Given the description of an element on the screen output the (x, y) to click on. 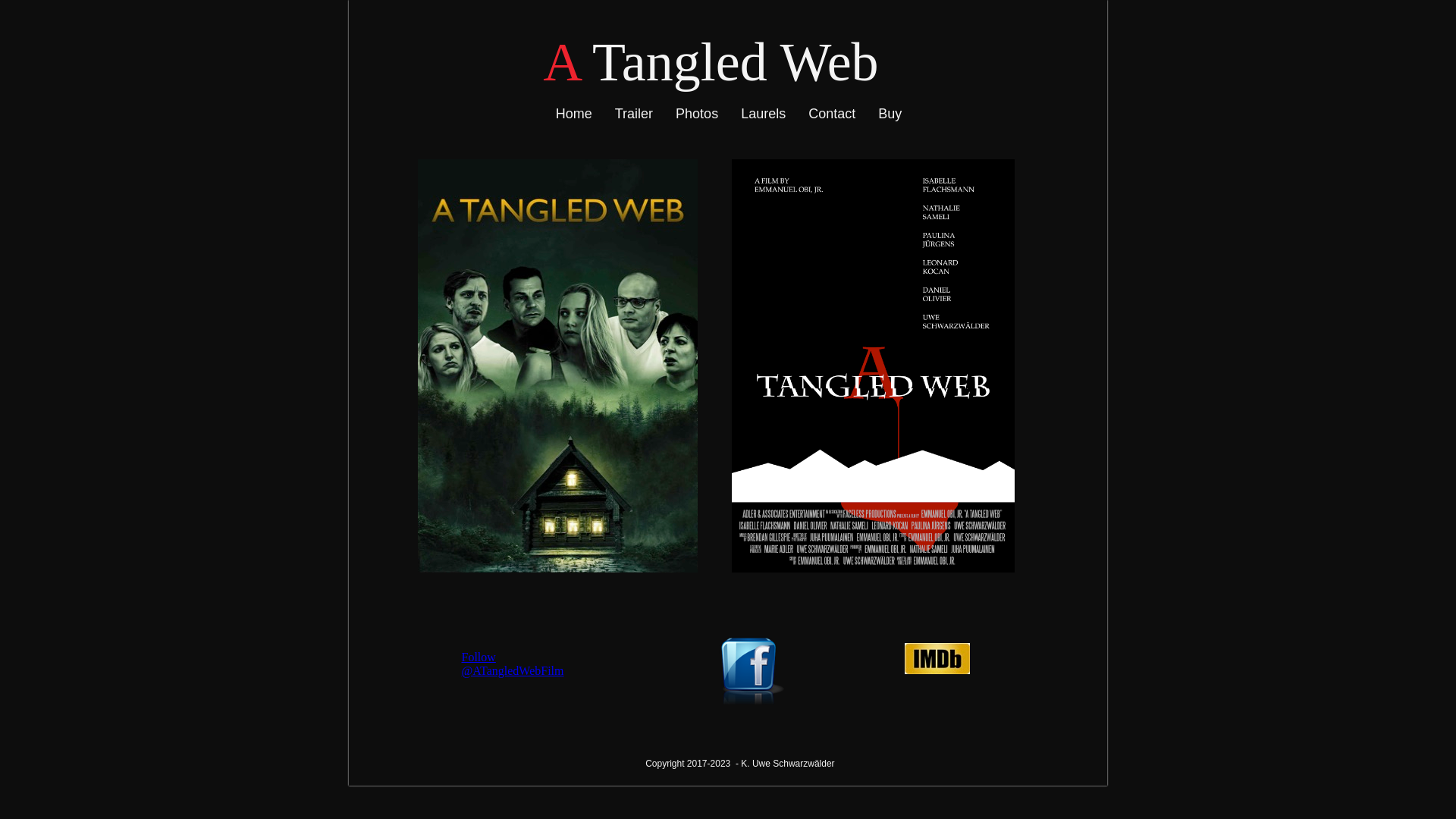
Photos Element type: text (696, 113)
Trailer Element type: text (633, 113)
Laurels Element type: text (762, 113)
Buy Element type: text (889, 113)
Follow @ATangledWebFilm Element type: text (512, 663)
Home Element type: text (573, 113)
Contact Element type: text (831, 113)
